Given the description of an element on the screen output the (x, y) to click on. 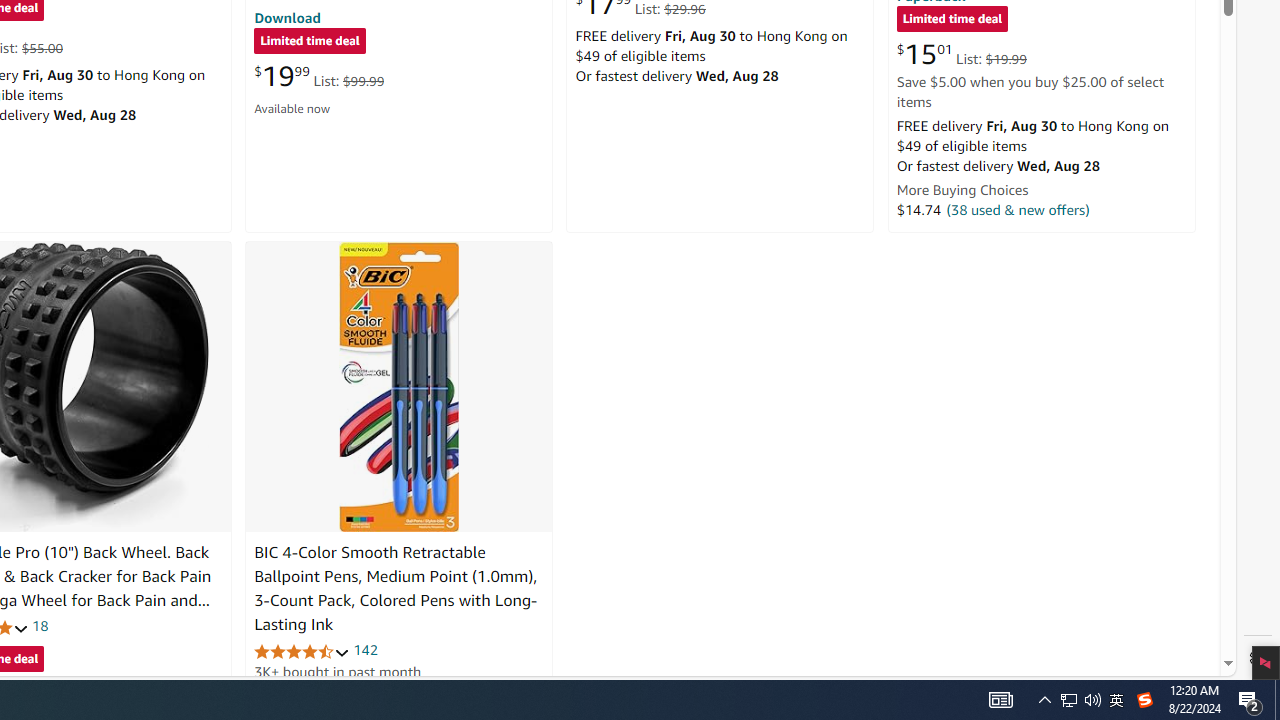
Limited time deal (952, 20)
Download (287, 17)
$19.99 List: $99.99 (319, 76)
(38 used & new offers) (1017, 209)
142 (365, 650)
$15.01 List: $19.99 (961, 54)
18 (40, 625)
4.6 out of 5 stars (301, 650)
